Given the description of an element on the screen output the (x, y) to click on. 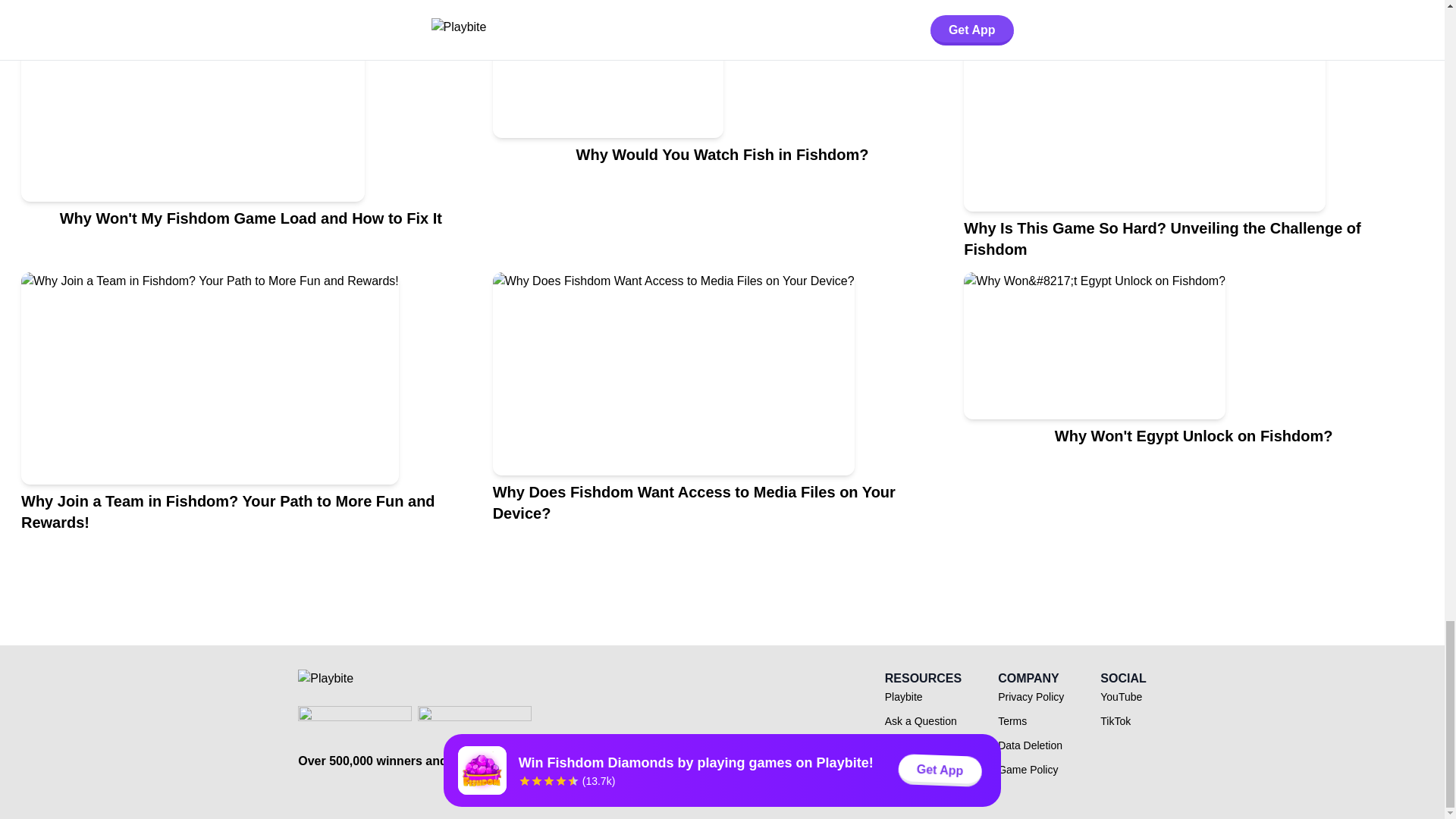
Privacy Policy (1030, 696)
How Do You Earn Gold Vouchers on Fishdom? (722, 4)
TikTok (1115, 720)
Why Won't My Fishdom Game Load and How to Fix It (250, 139)
Terms (1011, 720)
Why Can't I Play the Fishdom Games as Advertised? (1193, 4)
Playbite (904, 696)
Data Deletion (1029, 745)
Is Fishdom Available on PC? (250, 4)
